Given the description of an element on the screen output the (x, y) to click on. 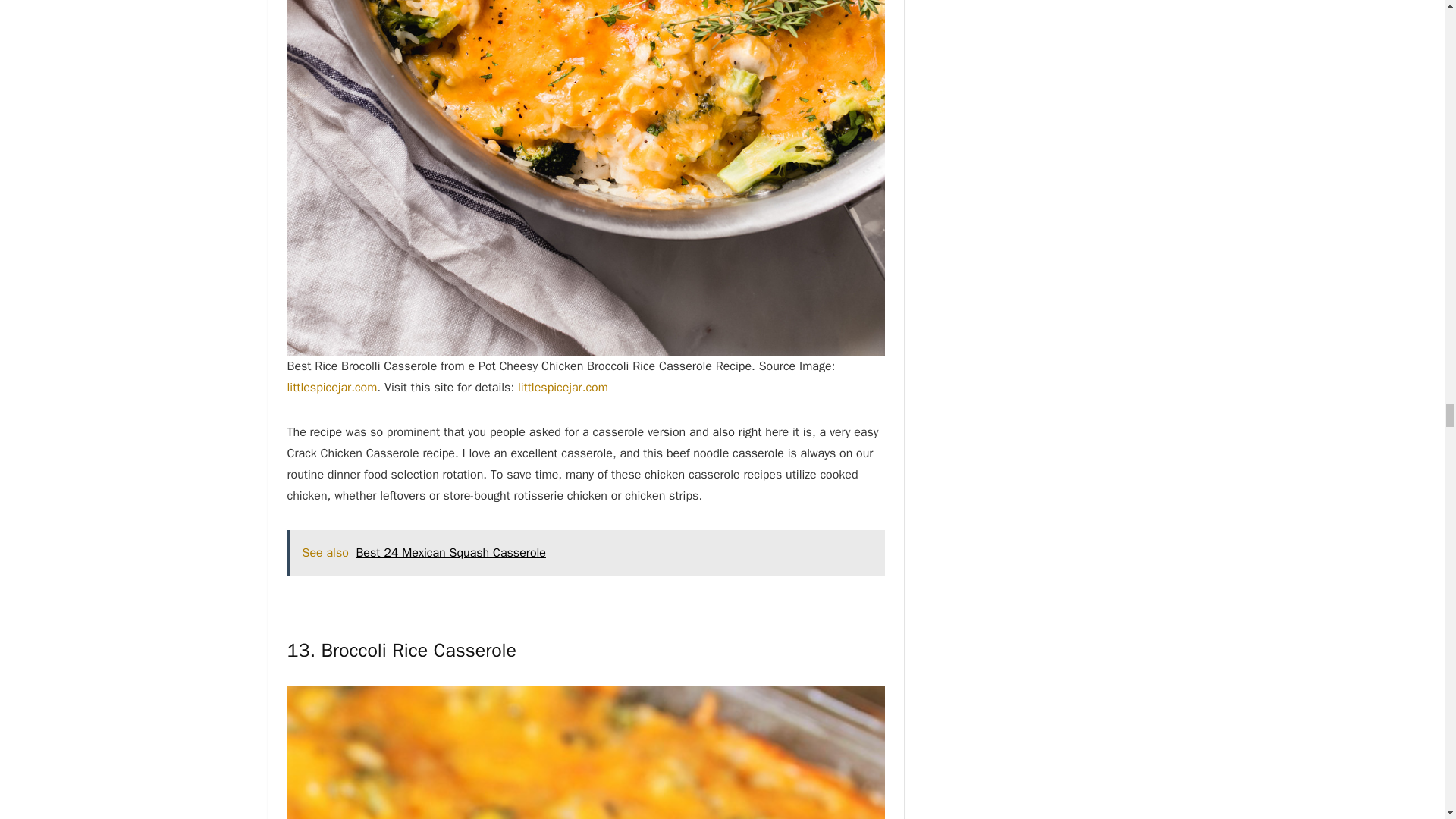
littlespicejar.com (563, 387)
broccoli rice casserole (584, 752)
littlespicejar.com (331, 387)
See also  Best 24 Mexican Squash Casserole (584, 552)
